Given the description of an element on the screen output the (x, y) to click on. 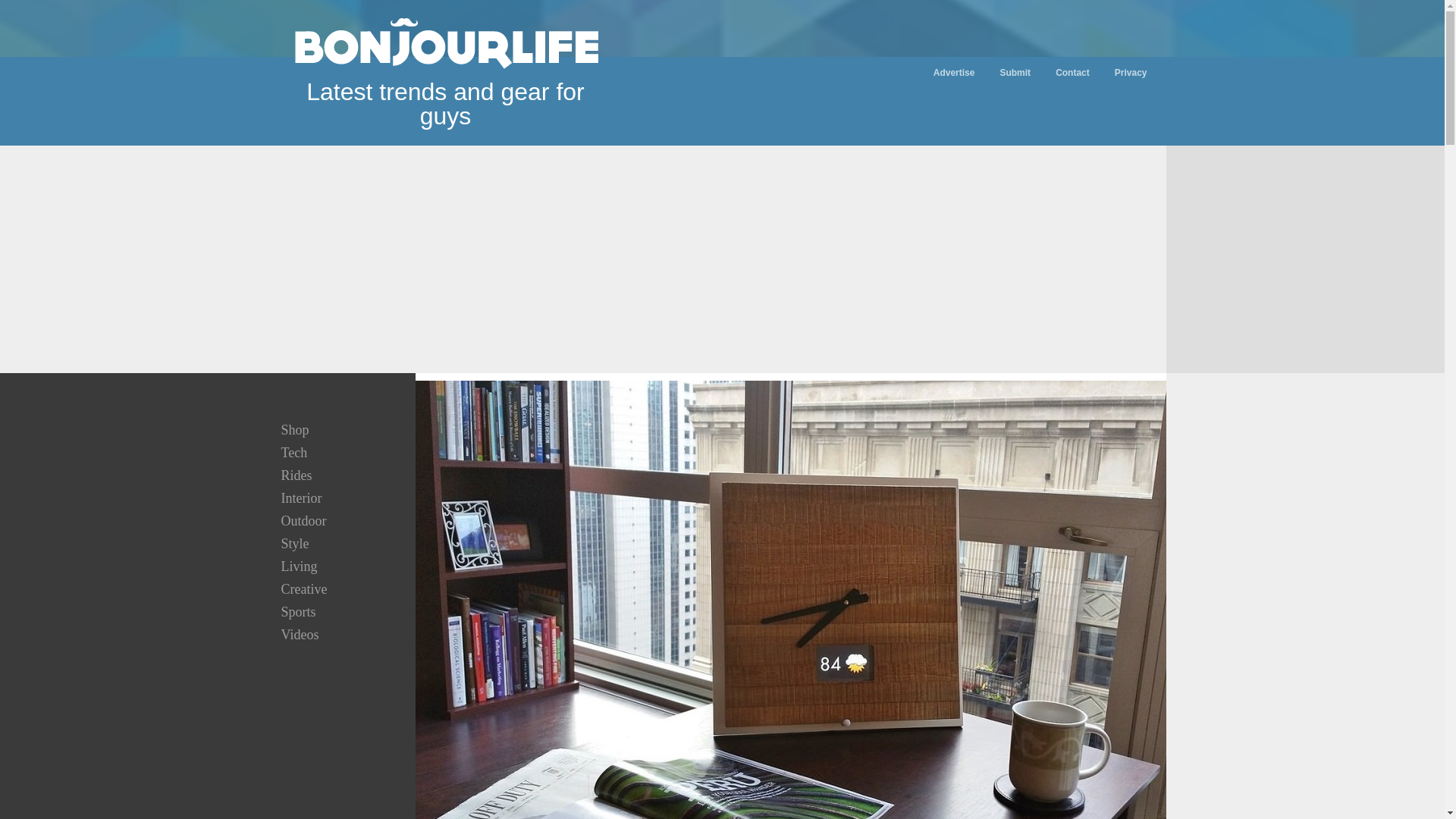
Advertise (954, 72)
Tech (293, 452)
Outdoor (302, 520)
Submit (1015, 72)
Rides (296, 475)
Interior (300, 498)
Shop (293, 429)
Style (293, 543)
Contact (1071, 72)
